Given the description of an element on the screen output the (x, y) to click on. 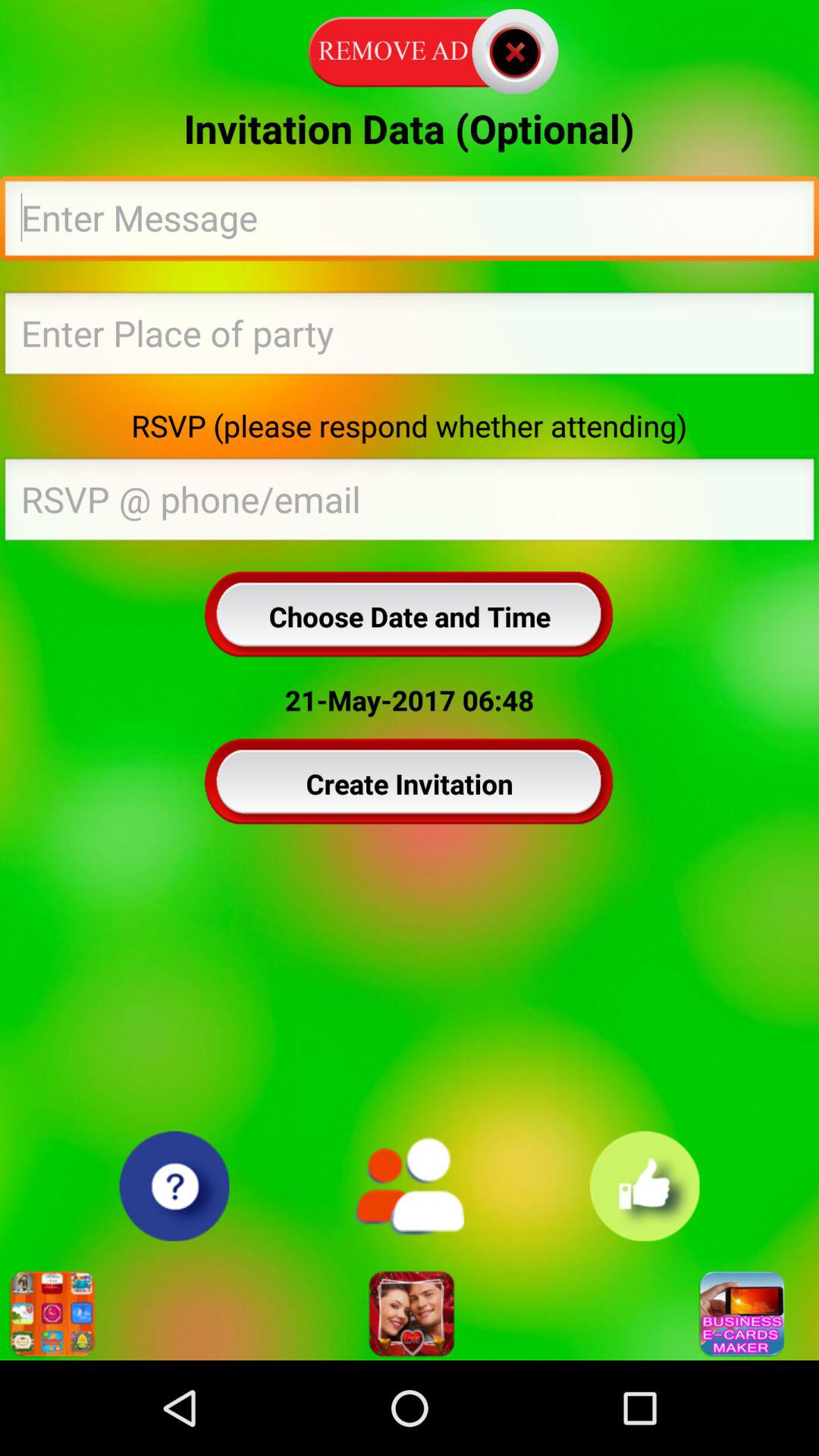
open app above the 21 may 2017 item (409, 616)
